Given the description of an element on the screen output the (x, y) to click on. 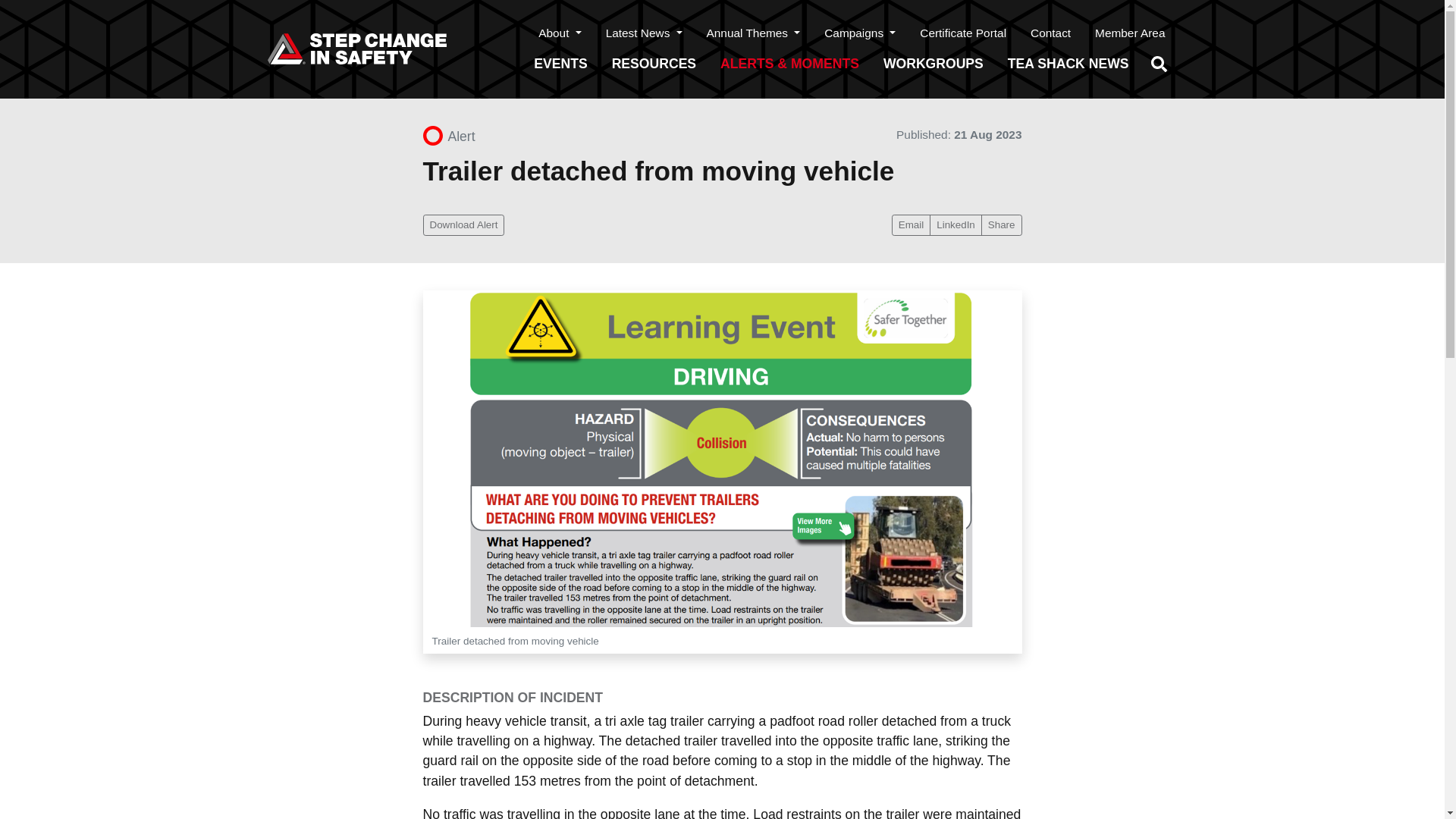
Share on LinkedIn (955, 224)
Campaigns (859, 32)
Share this alert via Email (910, 224)
About (558, 32)
Latest News (644, 32)
Annual Themes (753, 32)
